Given the description of an element on the screen output the (x, y) to click on. 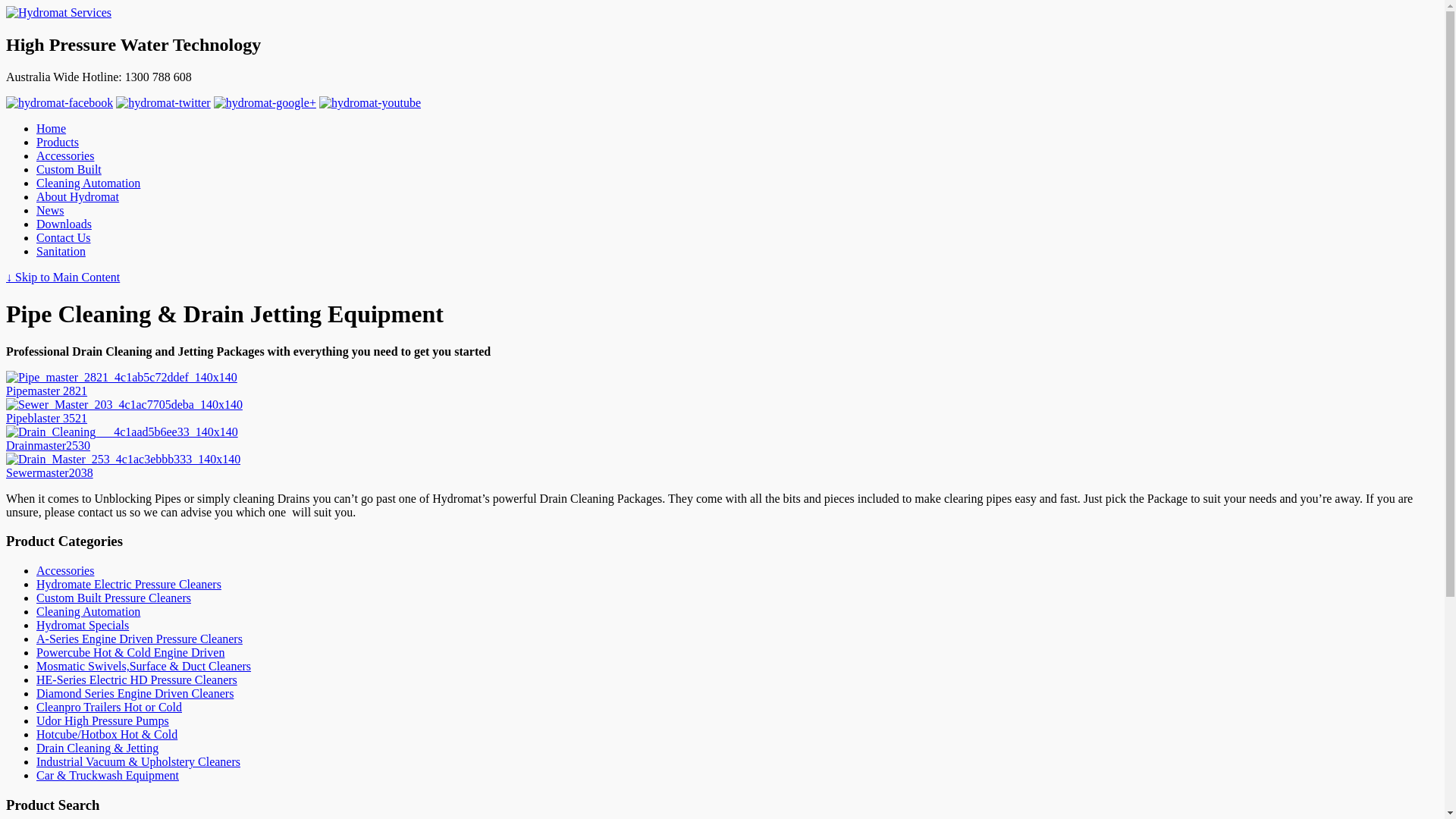
Sewermaster2038 Element type: text (49, 472)
Hydromat Specials Element type: text (82, 624)
Drain Cleaning & Jetting Element type: text (97, 747)
Pipemaster 2821 Element type: text (46, 390)
Custom Built Element type: text (68, 169)
Cleaning Automation Element type: text (88, 611)
Drainmaster2530 Element type: text (48, 445)
Udor High Pressure Pumps Element type: text (102, 720)
Powercube Hot & Cold Engine Driven Element type: text (130, 652)
Industrial Vacuum & Upholstery Cleaners Element type: text (138, 761)
Pipeblaster 3521 Element type: text (46, 417)
About Hydromat Element type: text (77, 196)
Custom Built Pressure Cleaners Element type: text (113, 597)
Diamond Series Engine Driven Cleaners Element type: text (134, 693)
Cleanpro Trailers Hot or Cold Element type: text (109, 706)
Sanitation Element type: text (60, 250)
News Element type: text (49, 209)
Downloads Element type: text (63, 223)
Hydromate Electric Pressure Cleaners Element type: text (128, 583)
Cleaning Automation Element type: text (88, 182)
Accessories Element type: text (65, 155)
Accessories Element type: text (65, 570)
Home Element type: text (50, 128)
Hotcube/Hotbox Hot & Cold Element type: text (106, 734)
Mosmatic Swivels,Surface & Duct Cleaners Element type: text (143, 665)
HE-Series Electric HD Pressure Cleaners Element type: text (136, 679)
Car & Truckwash Equipment Element type: text (107, 774)
Contact Us Element type: text (63, 237)
Products Element type: text (57, 141)
A-Series Engine Driven Pressure Cleaners Element type: text (139, 638)
